Given the description of an element on the screen output the (x, y) to click on. 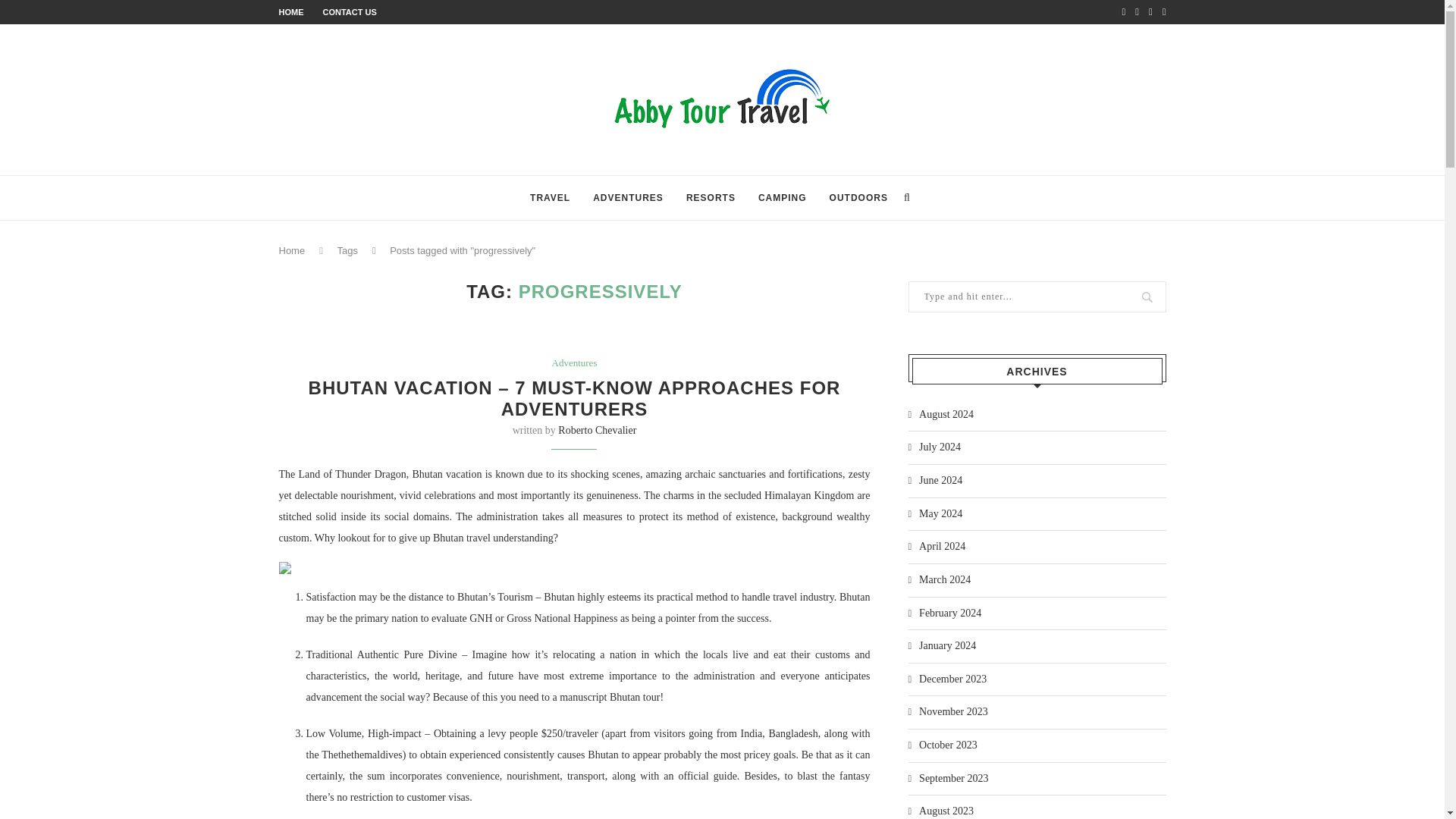
OUTDOORS (858, 198)
June 2024 (935, 480)
HOME (291, 11)
RESORTS (710, 198)
Adventures (573, 363)
CONTACT US (350, 11)
Home (292, 250)
Roberto Chevalier (596, 430)
CAMPING (782, 198)
